Given the description of an element on the screen output the (x, y) to click on. 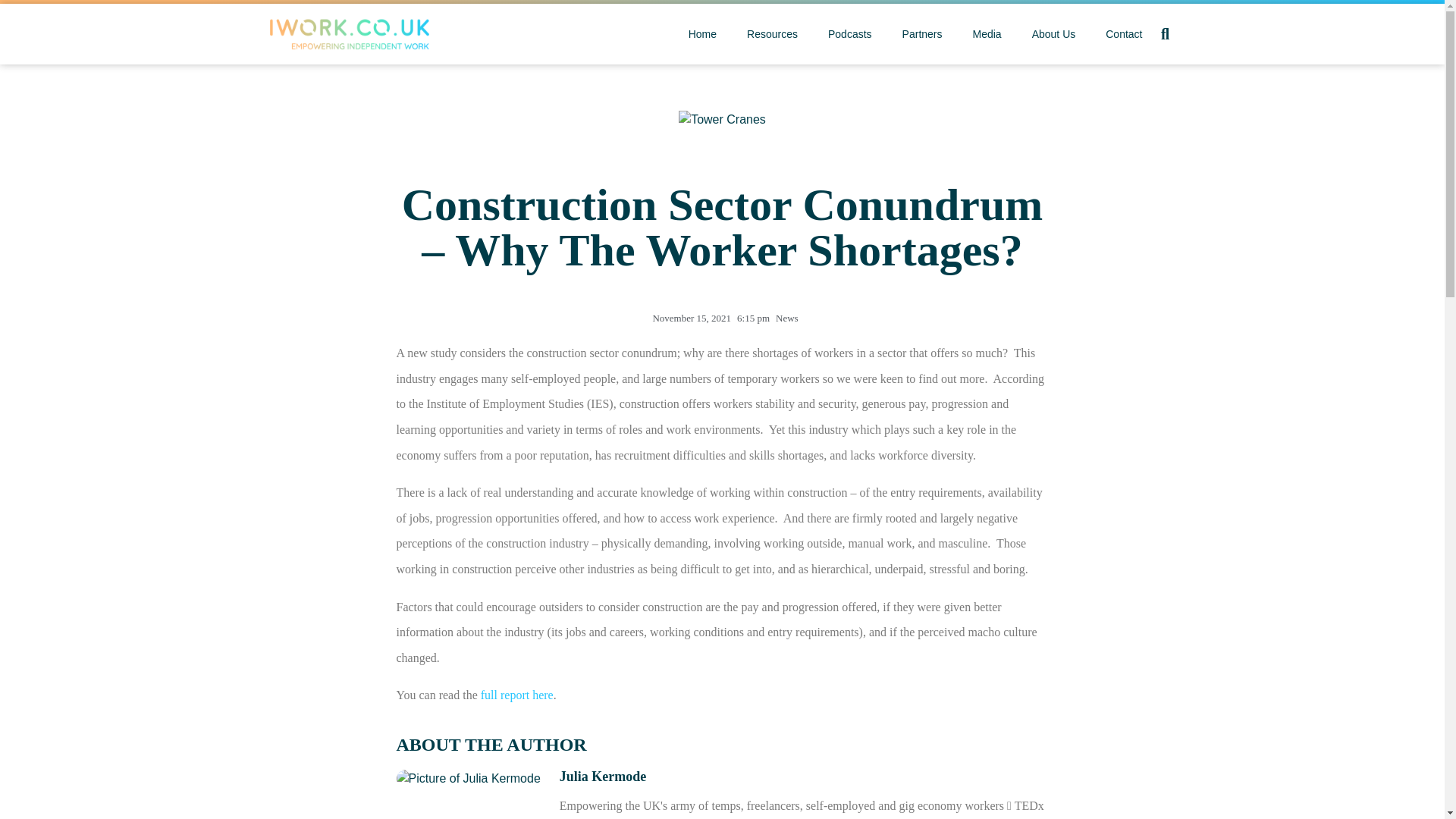
Contact (1116, 33)
November 15, 2021 (688, 318)
News (786, 317)
Media (979, 33)
full report here (516, 694)
Tower Cranes (721, 119)
Podcasts (842, 33)
Home (694, 33)
Resources (764, 33)
Partners (914, 33)
